Given the description of an element on the screen output the (x, y) to click on. 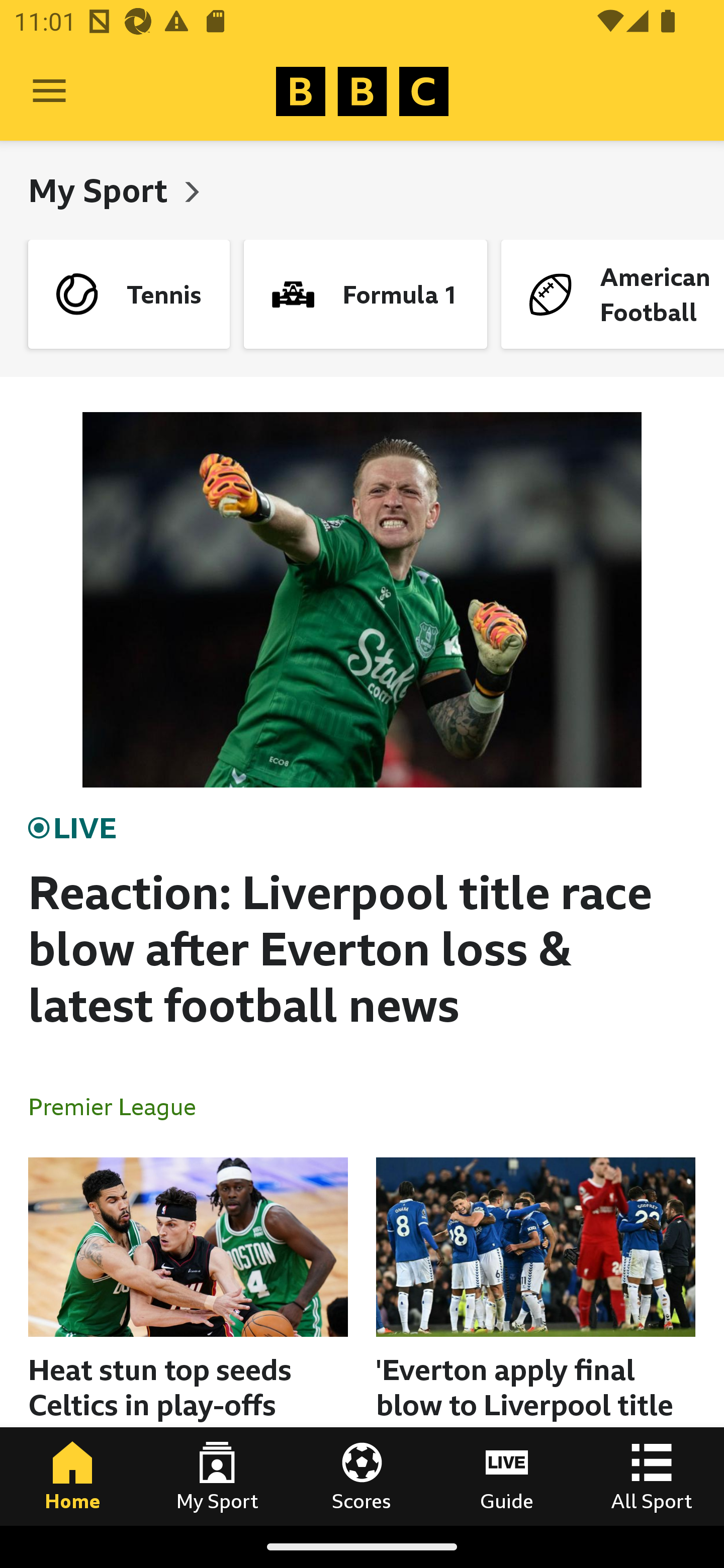
Open Menu (49, 91)
My Sport (101, 190)
Premier League In the section Premier League (119, 1106)
My Sport (216, 1475)
Scores (361, 1475)
Guide (506, 1475)
All Sport (651, 1475)
